Given the description of an element on the screen output the (x, y) to click on. 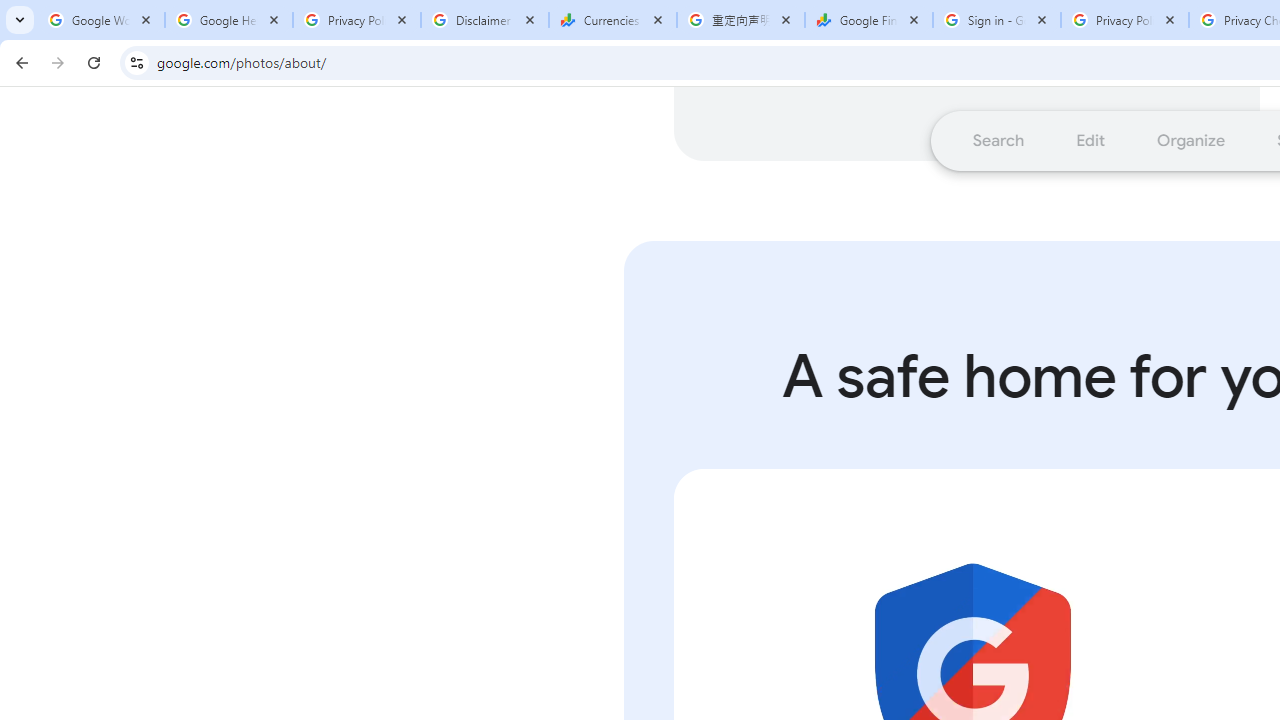
Go to section: Edit (1090, 140)
Google Workspace Admin Community (101, 20)
Sign in - Google Accounts (997, 20)
